Given the description of an element on the screen output the (x, y) to click on. 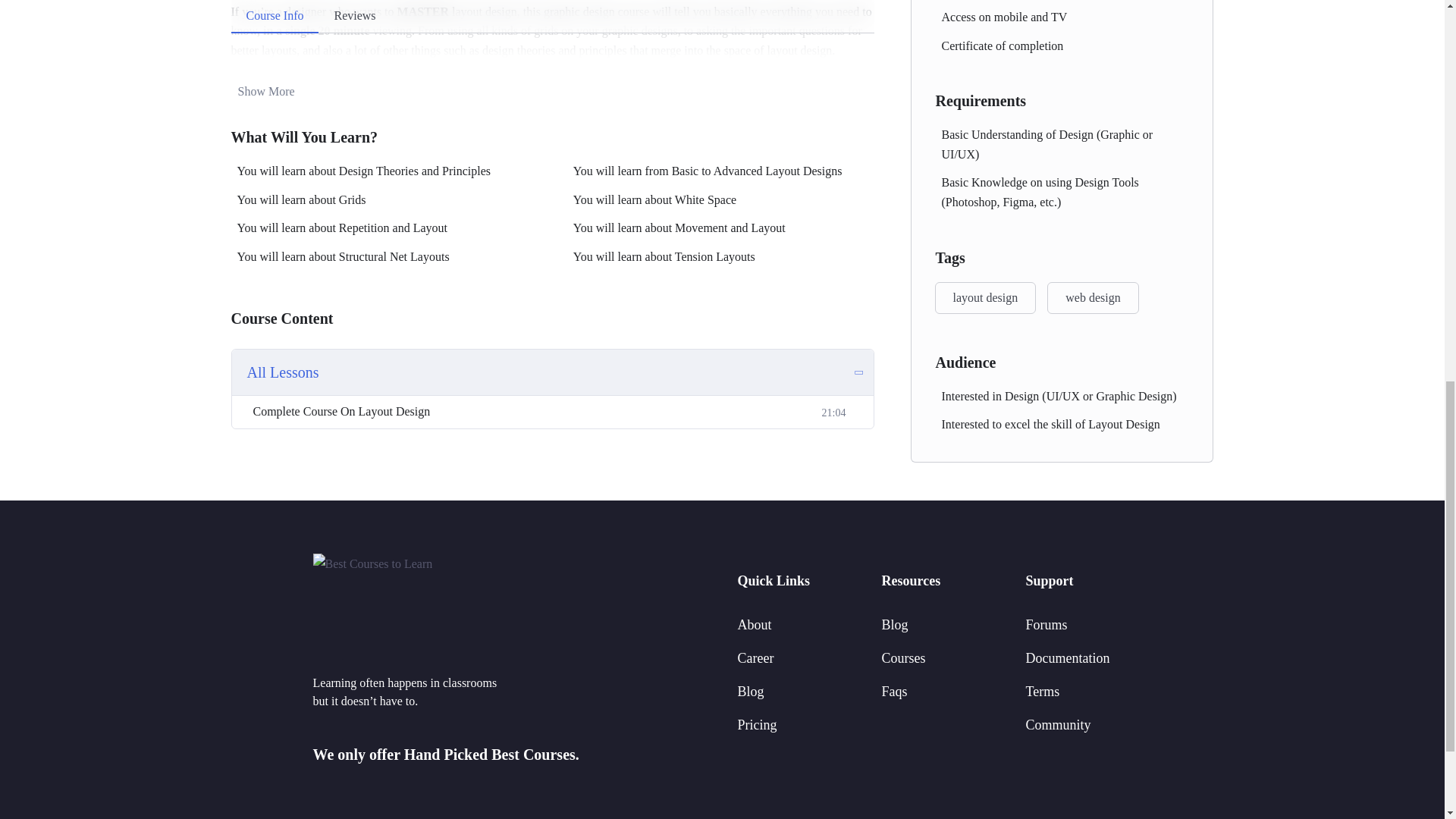
Show More (262, 91)
web design (1092, 297)
Blog (749, 691)
layout design (984, 297)
Career (754, 657)
About (753, 624)
